Given the description of an element on the screen output the (x, y) to click on. 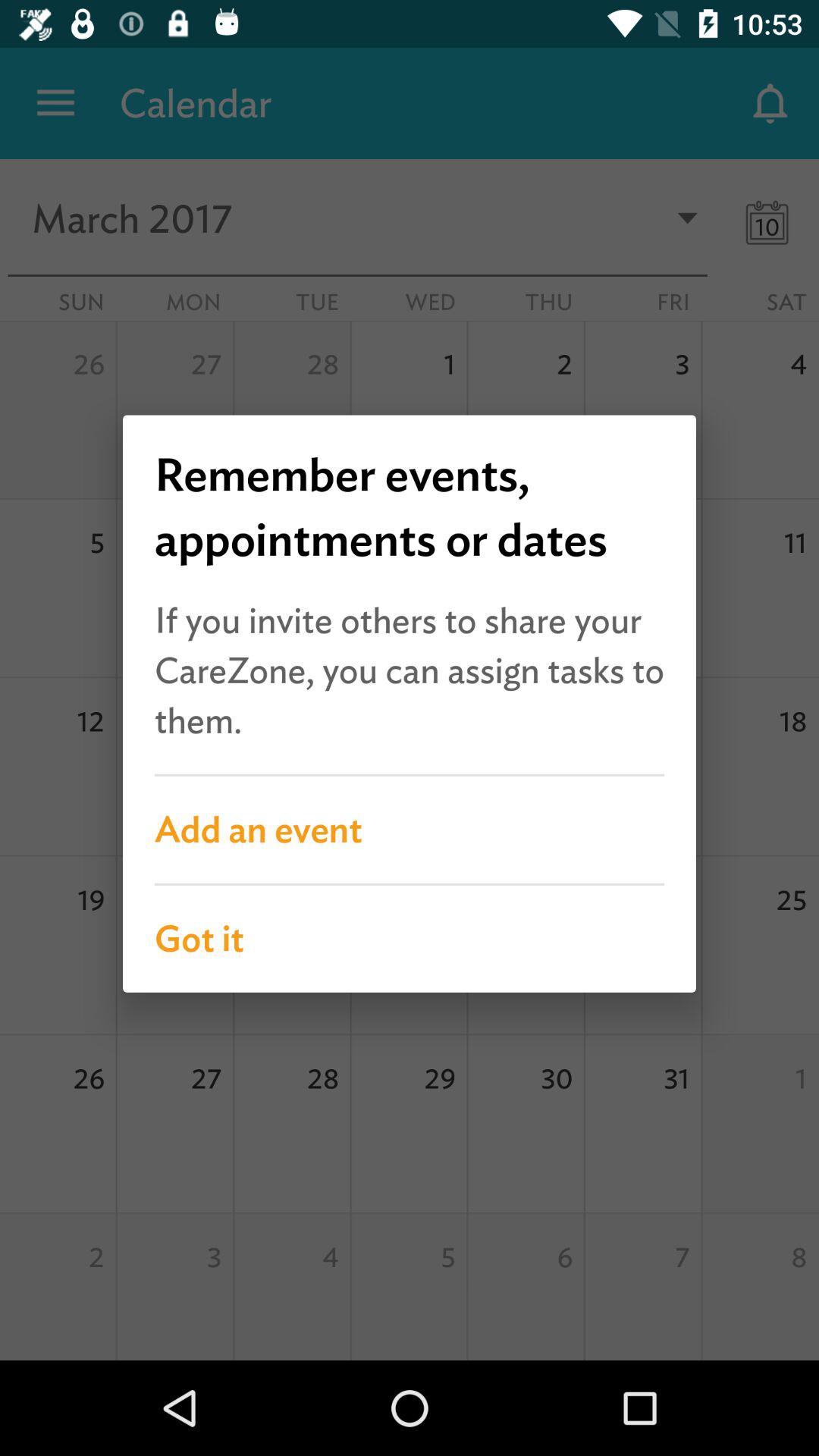
turn off the got it item (409, 938)
